Given the description of an element on the screen output the (x, y) to click on. 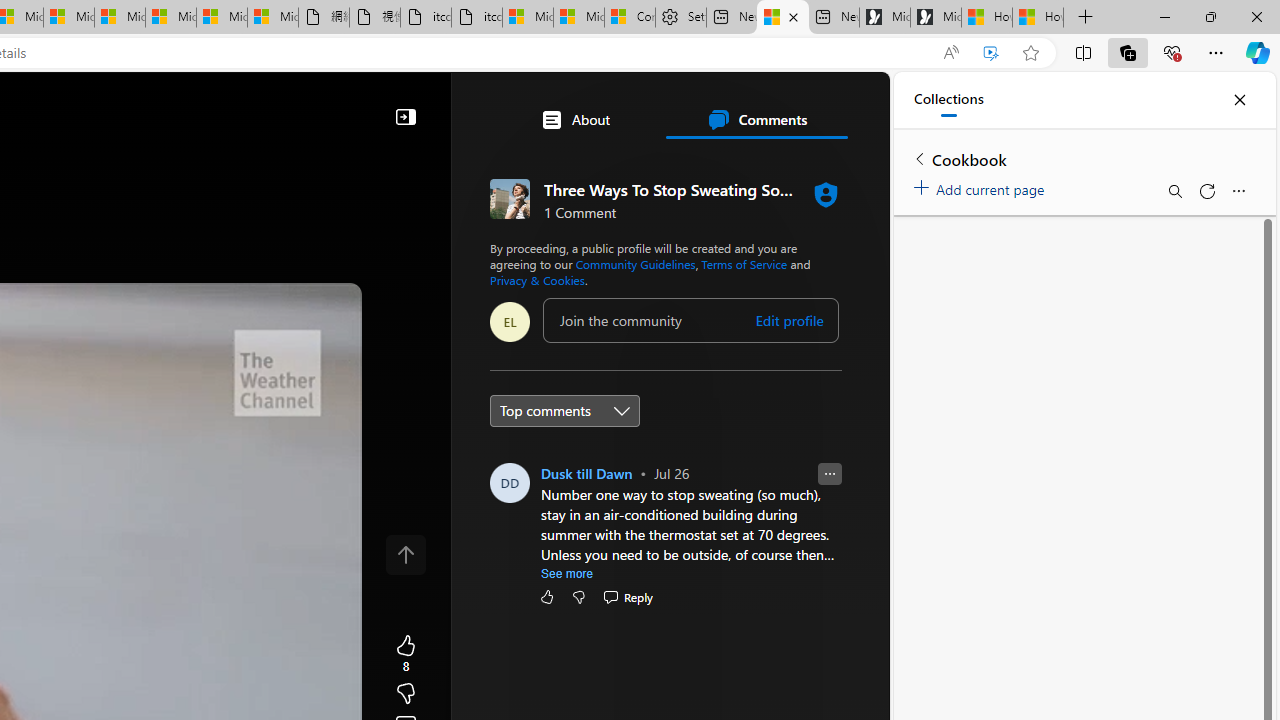
Open settings (845, 105)
Terms of Service (744, 264)
Three Ways To Stop Sweating So Much (782, 17)
Like (547, 596)
How to Use a TV as a Computer Monitor (1037, 17)
Notifications (804, 105)
Ad (572, 439)
